Given the description of an element on the screen output the (x, y) to click on. 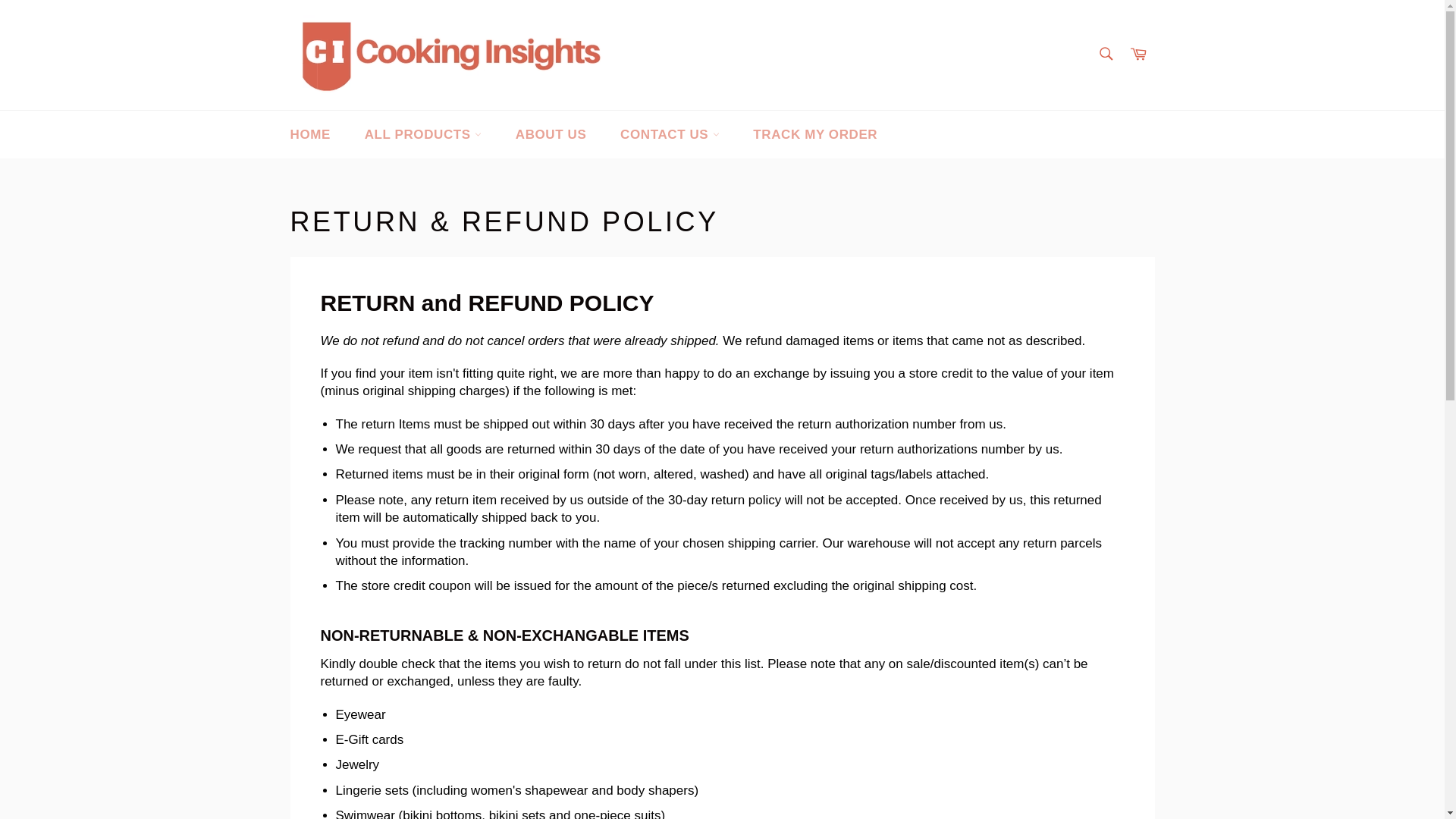
ALL PRODUCTS (422, 134)
Search (1104, 53)
Cart (1138, 54)
HOME (310, 134)
